Given the description of an element on the screen output the (x, y) to click on. 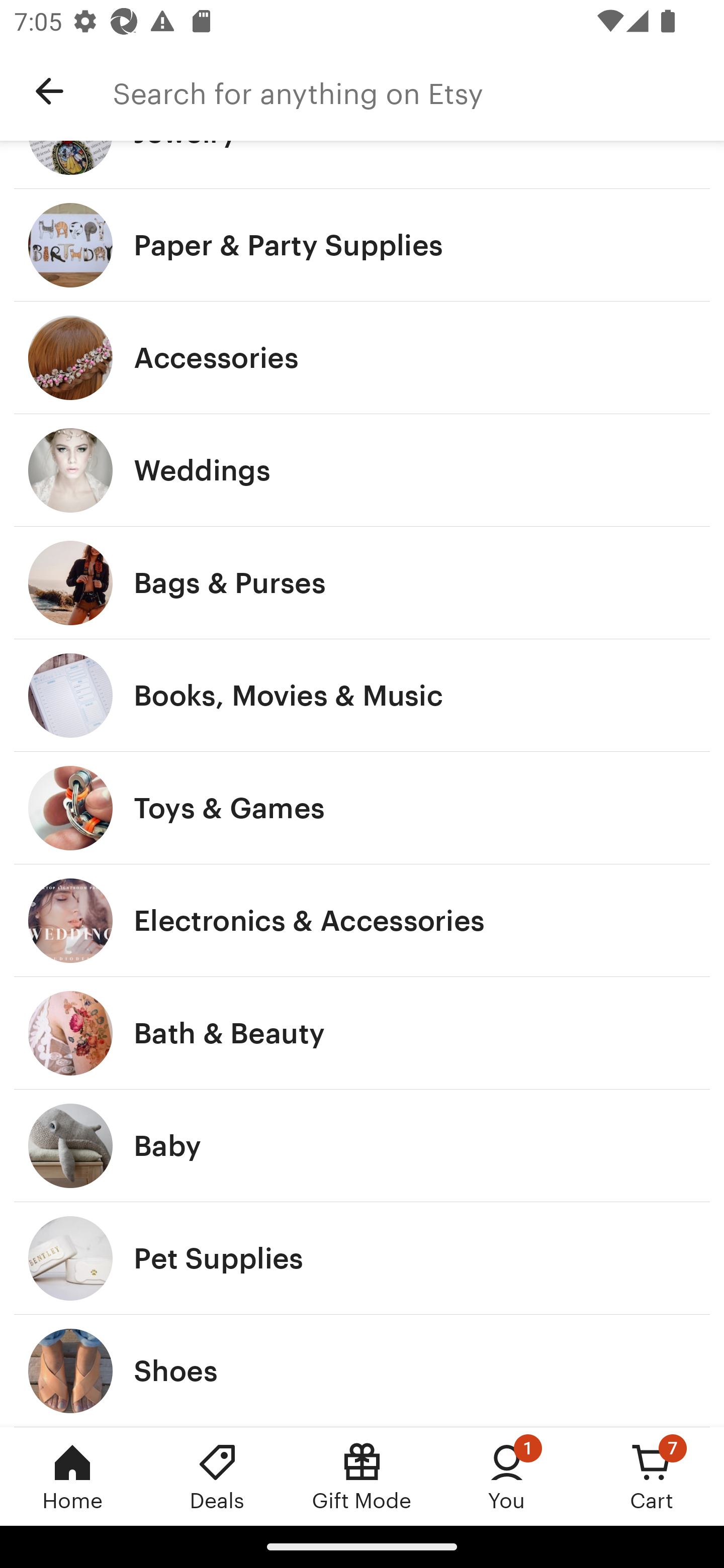
Navigate up (49, 91)
Search for anything on Etsy (418, 91)
Paper & Party Supplies (361, 245)
Accessories (361, 357)
Weddings (361, 469)
Bags & Purses (361, 582)
Books, Movies & Music (361, 695)
Toys & Games (361, 807)
Electronics & Accessories (361, 919)
Bath & Beauty (361, 1032)
Baby (361, 1145)
Pet Supplies (361, 1257)
Shoes (361, 1369)
Deals (216, 1475)
Gift Mode (361, 1475)
You, 1 new notification You (506, 1475)
Cart, 7 new notifications Cart (651, 1475)
